Given the description of an element on the screen output the (x, y) to click on. 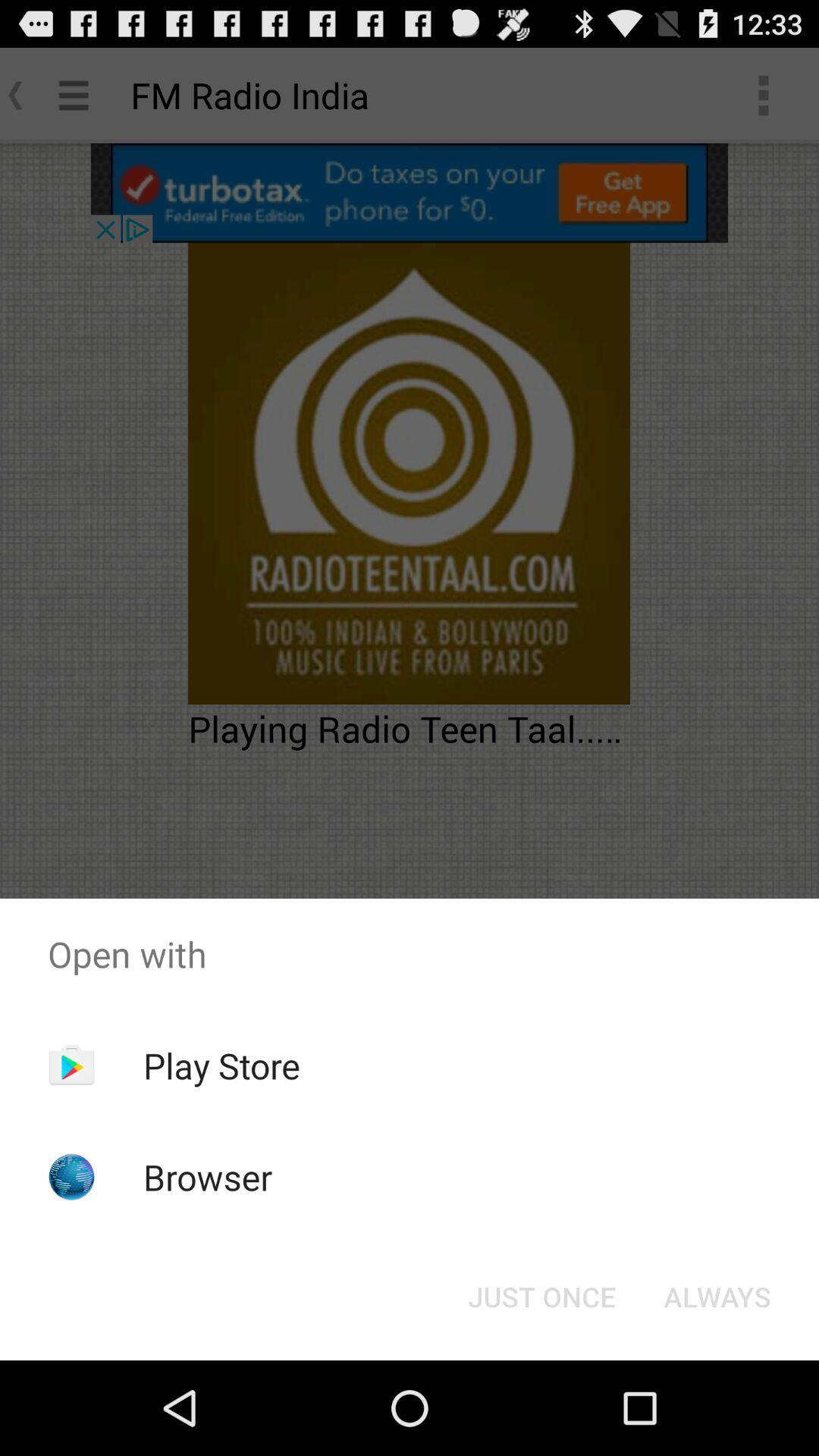
scroll to the play store item (221, 1065)
